Given the description of an element on the screen output the (x, y) to click on. 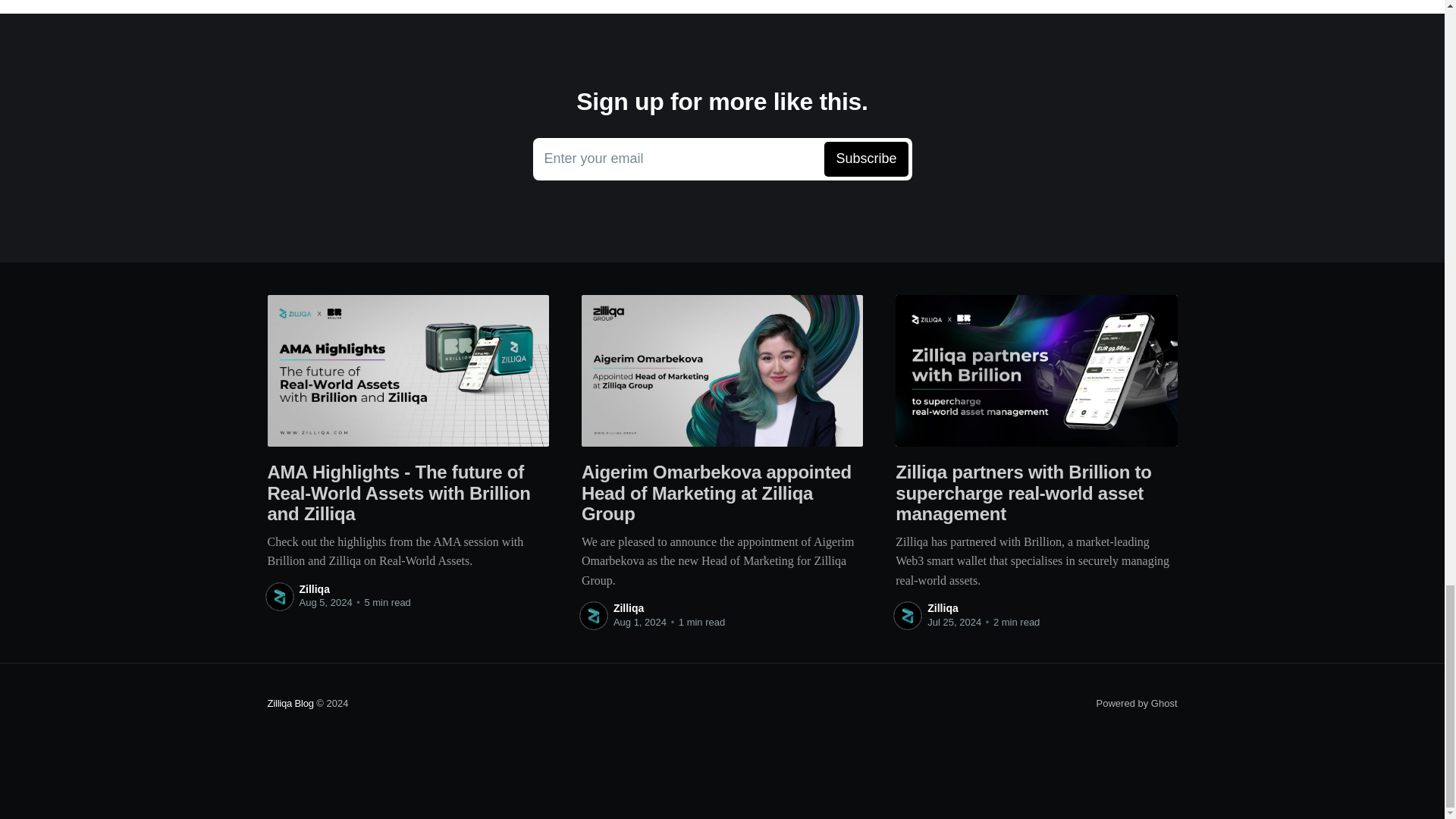
Powered by Ghost (1136, 703)
Zilliqa (627, 607)
Zilliqa Blog (289, 703)
Zilliqa (942, 607)
Zilliqa (313, 589)
